Given the description of an element on the screen output the (x, y) to click on. 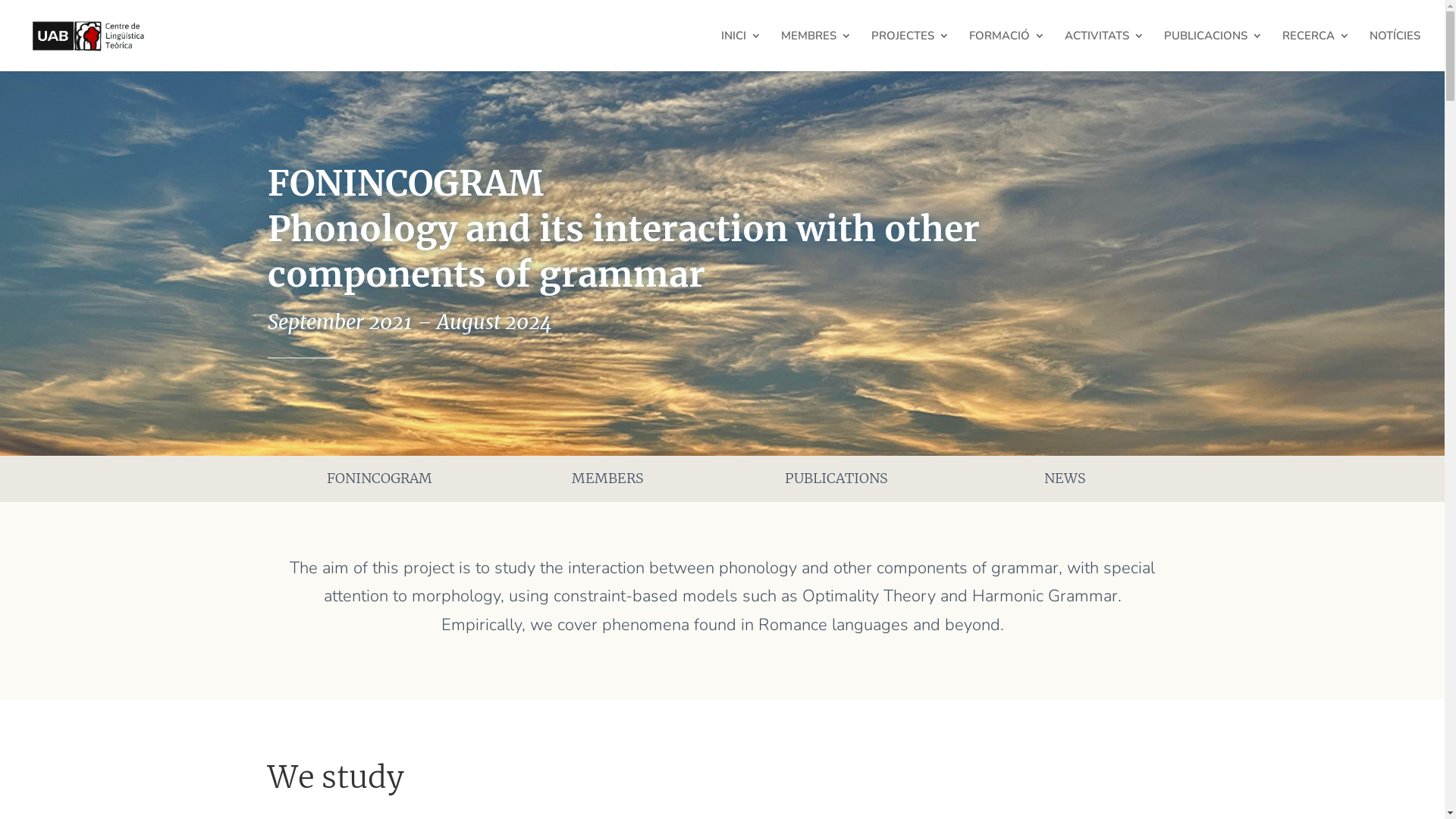
MEMBRES Element type: text (816, 50)
ACTIVITATS Element type: text (1104, 50)
RECERCA Element type: text (1315, 50)
INICI Element type: text (741, 50)
PUBLICACIONS Element type: text (1213, 50)
PROJECTES Element type: text (910, 50)
